Given the description of an element on the screen output the (x, y) to click on. 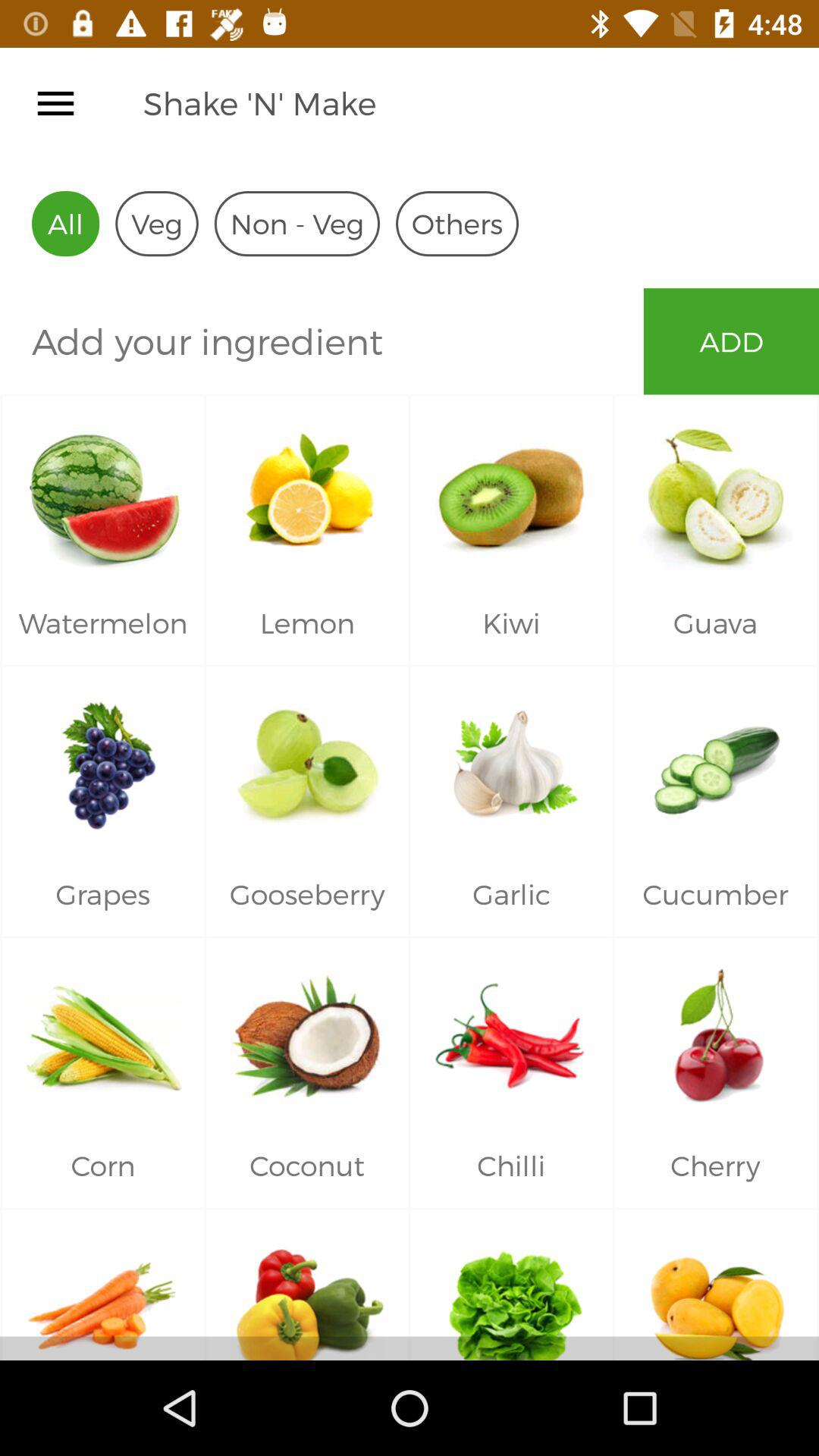
turn off the icon to the left of the others (296, 223)
